Given the description of an element on the screen output the (x, y) to click on. 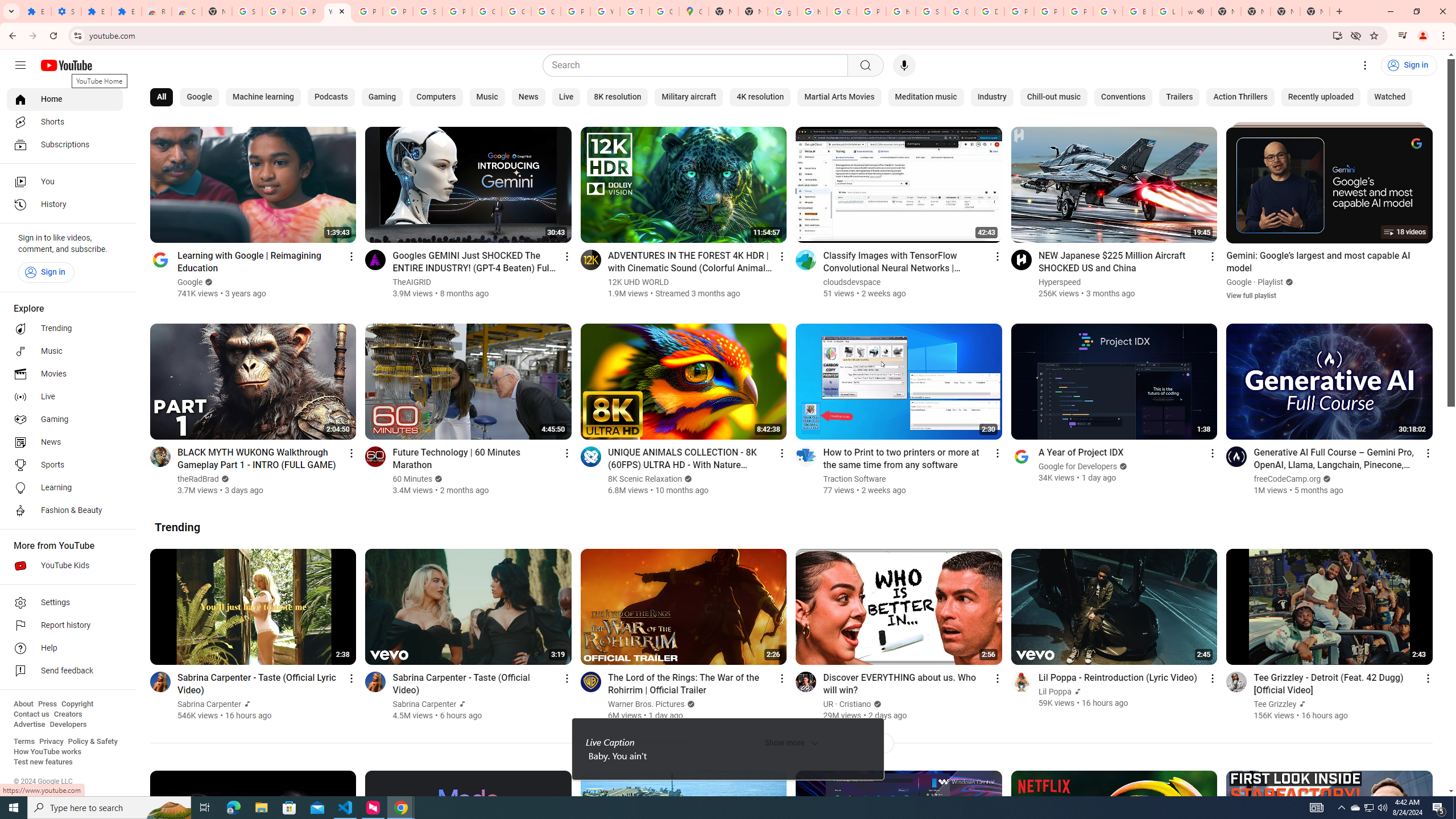
Sign in (45, 272)
Playlist (1270, 282)
All (161, 97)
Go to channel (1236, 681)
Developers (68, 724)
Help (64, 648)
Official Artist Channel (1301, 704)
YouTube Kids (64, 565)
Google (1238, 282)
TheAIGRID (412, 282)
Gaming (382, 97)
Contact us (31, 714)
